Given the description of an element on the screen output the (x, y) to click on. 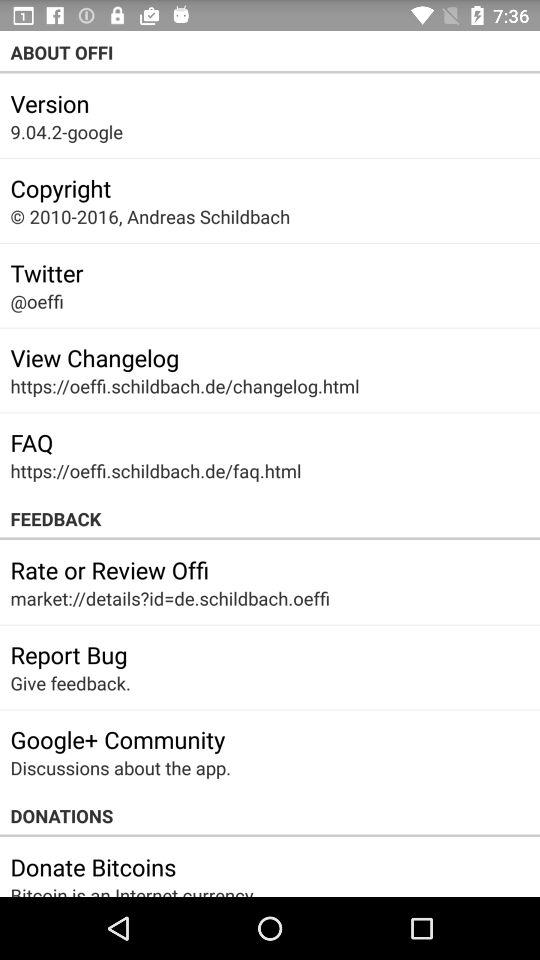
select item above the copyright app (66, 131)
